Given the description of an element on the screen output the (x, y) to click on. 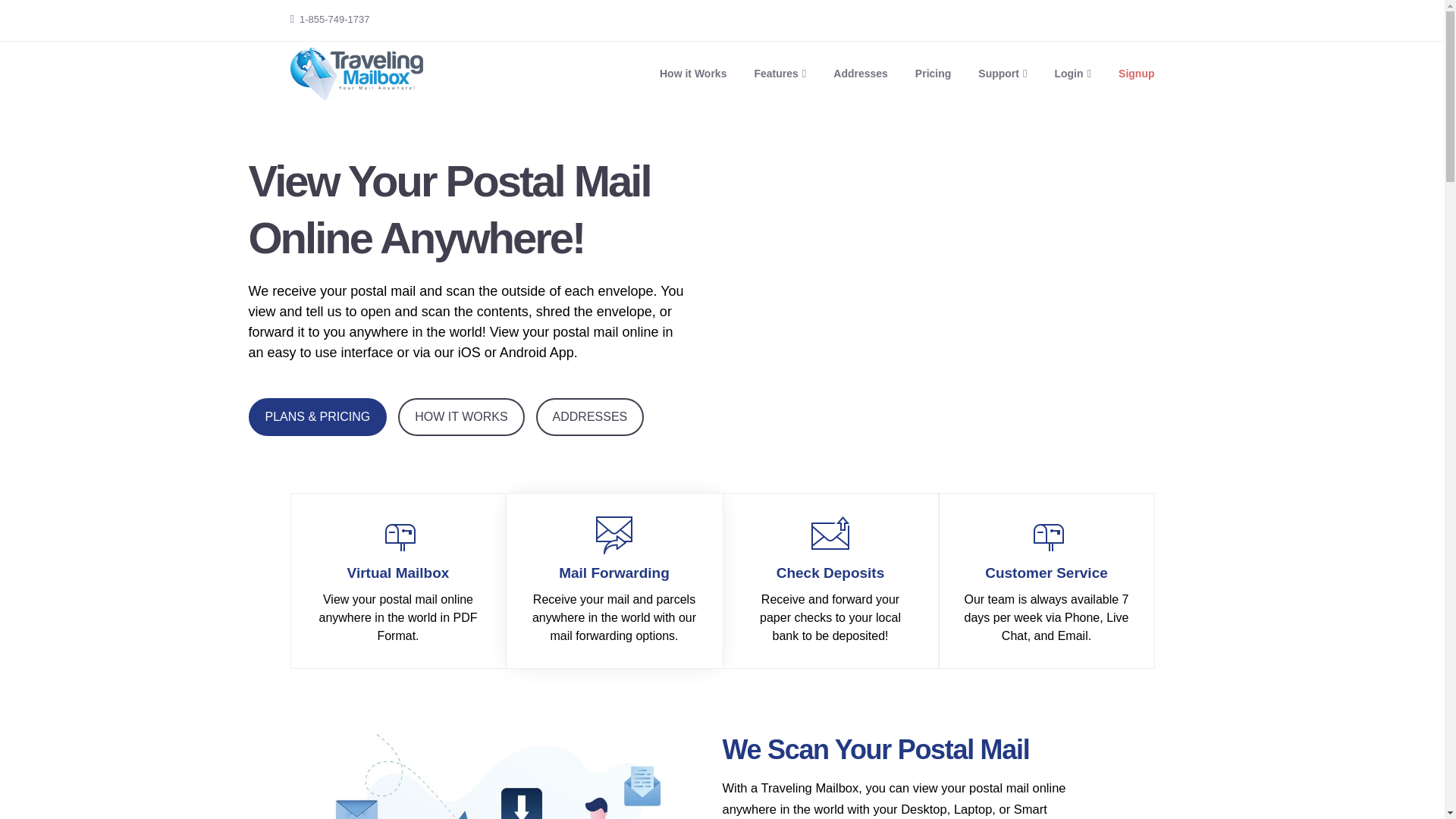
Pricing (932, 73)
1-855-749-1737 (334, 19)
virtual mailbox (397, 535)
Login (1072, 73)
Support (1002, 73)
HOW IT WORKS (460, 416)
Virtual Mailbox (398, 583)
mail forwarding service (614, 535)
How it Works (692, 73)
Mail Forwarding (614, 579)
